Given the description of an element on the screen output the (x, y) to click on. 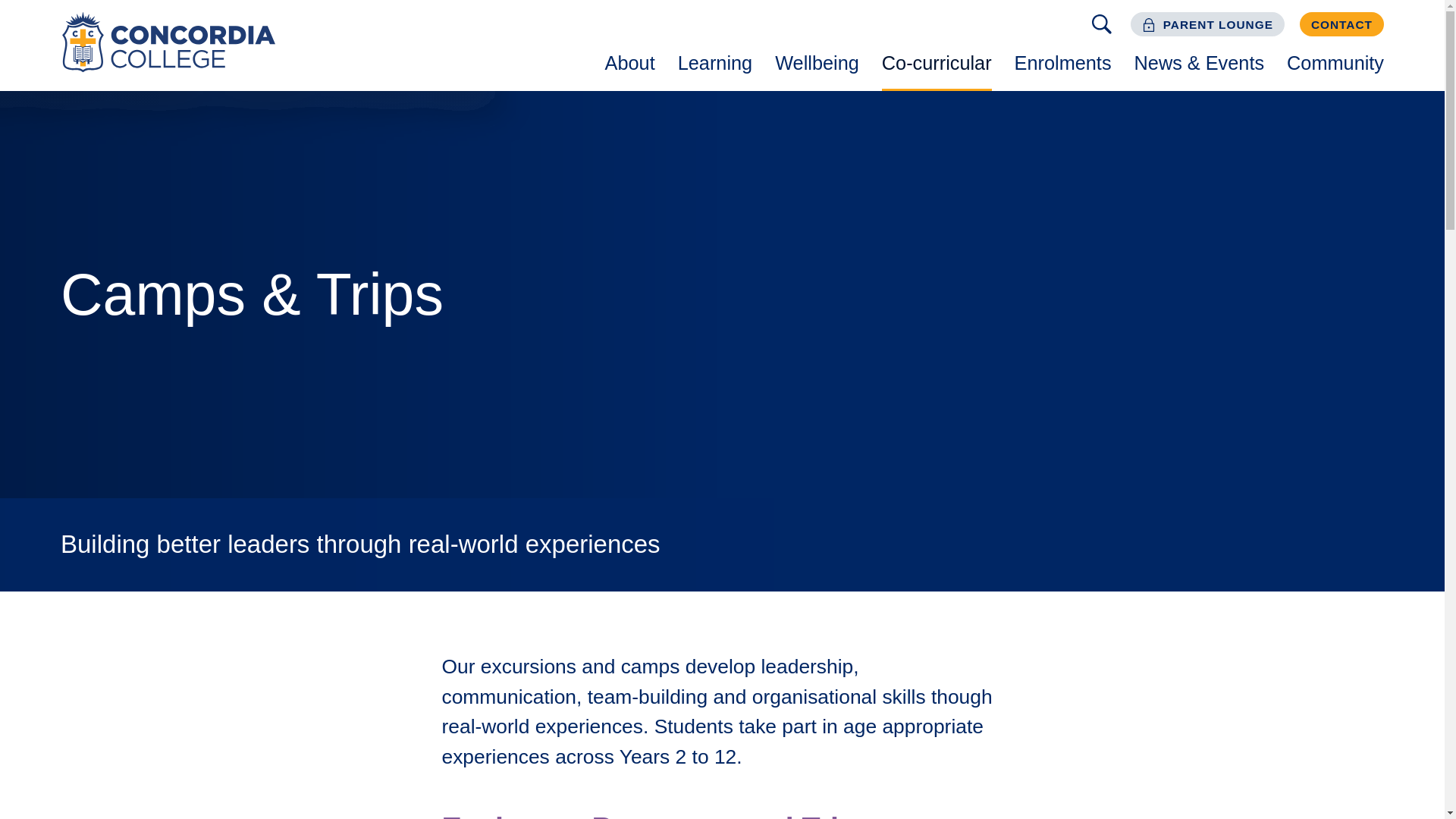
CONTACT (1342, 24)
Enrolments (1062, 63)
Co-curricular (936, 63)
Learning (714, 63)
PARENT LOUNGE (1207, 24)
Wellbeing (816, 63)
SEARCH (1101, 24)
Community (1334, 63)
About (630, 63)
